Given the description of an element on the screen output the (x, y) to click on. 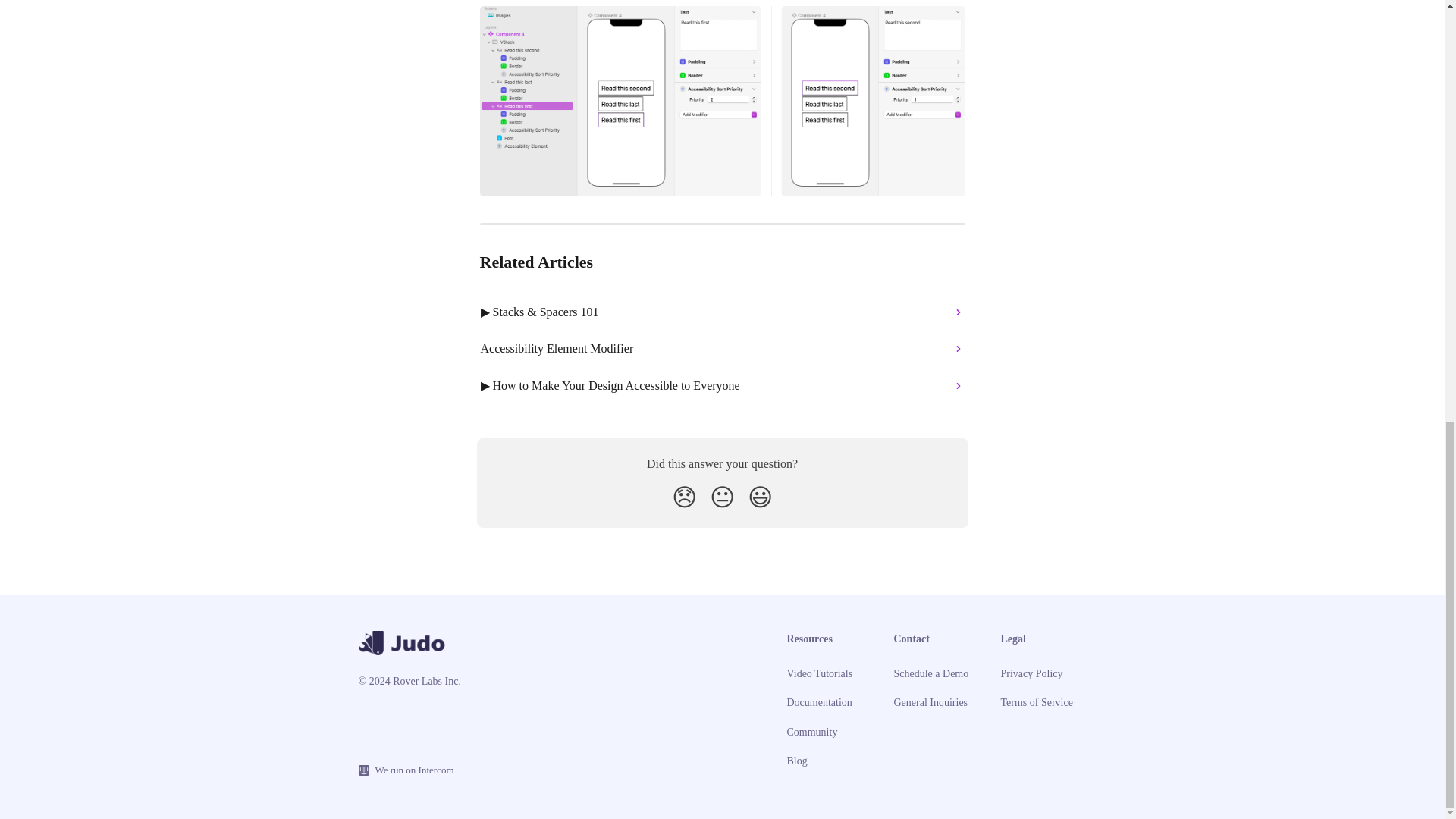
Video Tutorials (820, 673)
Neutral (722, 497)
Schedule a Demo (930, 673)
Terms of Service (1037, 702)
Disappointed (684, 497)
We run on Intercom (410, 770)
Community (812, 731)
Accessibility Element Modifier (722, 348)
Blog (797, 760)
Documentation (819, 702)
General Inquiries (930, 702)
Privacy Policy (1031, 673)
Smiley (760, 497)
